Given the description of an element on the screen output the (x, y) to click on. 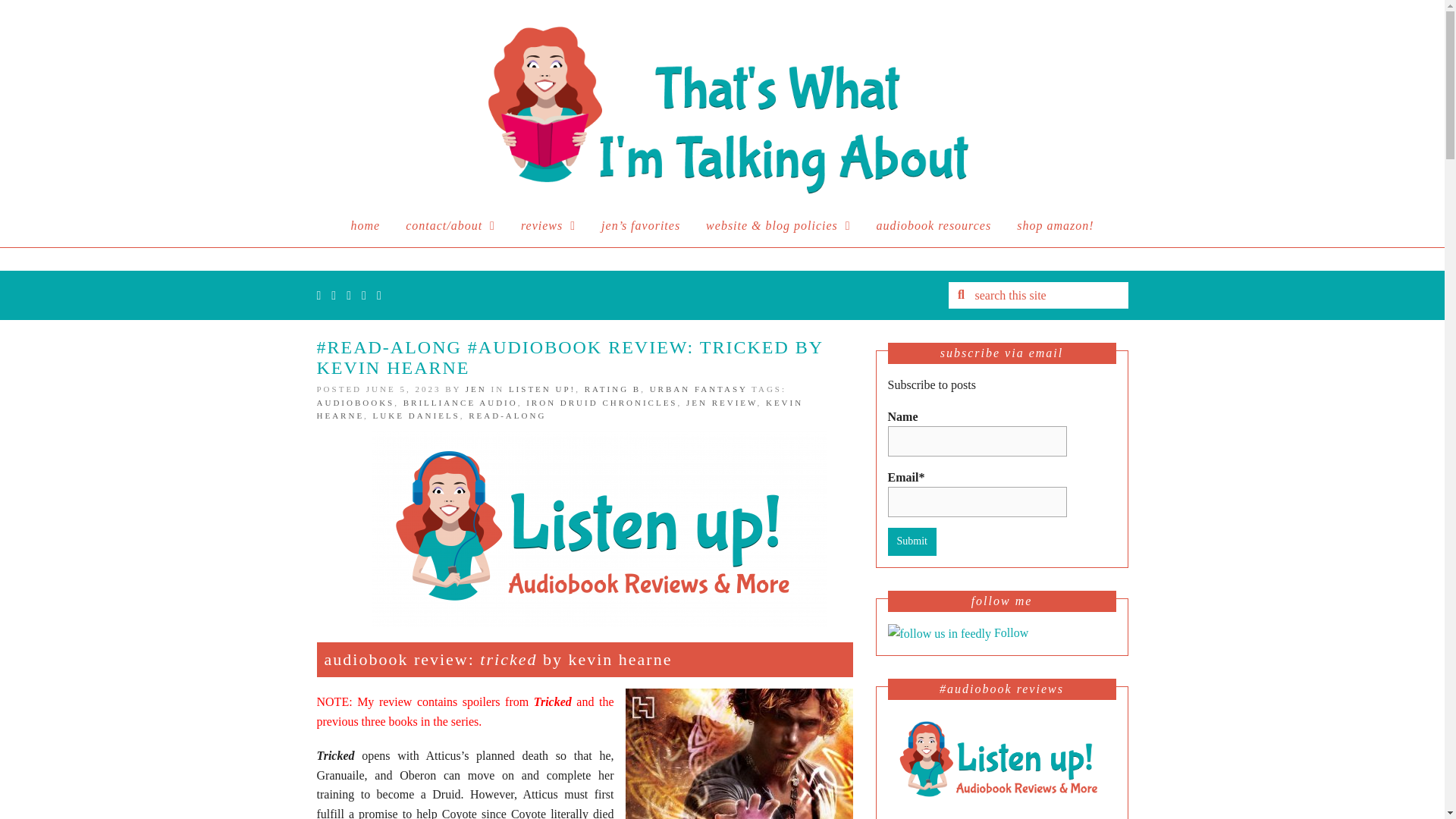
Submit (911, 541)
View all posts in Urban Fantasy (698, 388)
View all posts in Listen Up! (541, 388)
reviews   (547, 225)
home (365, 225)
View all posts in Rating B (612, 388)
